Given the description of an element on the screen output the (x, y) to click on. 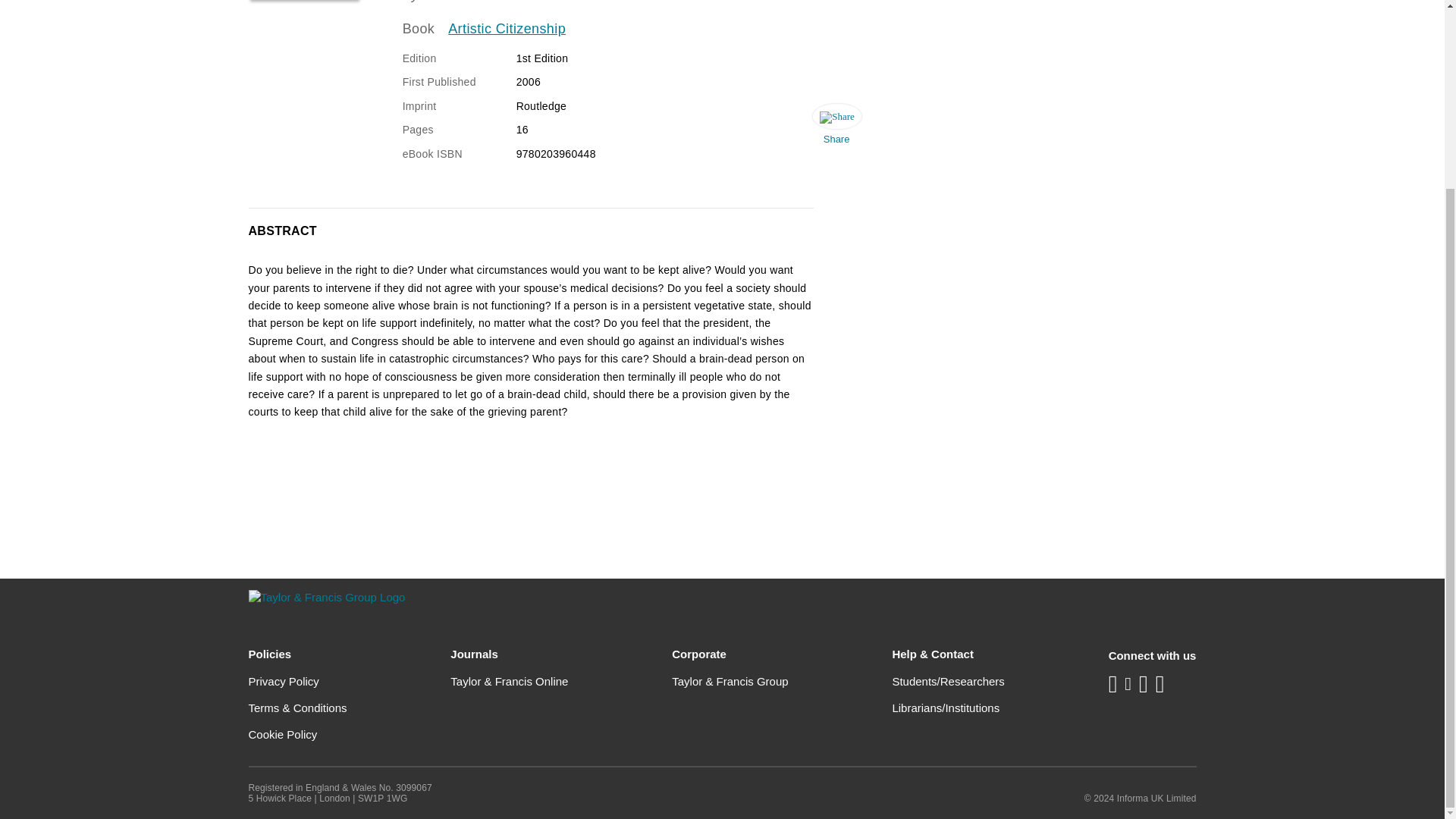
Artistic Citizenship (507, 29)
Privacy Policy (283, 681)
KAREN FINLEY (473, 1)
Cookie Policy (282, 734)
Share (836, 127)
